Given the description of an element on the screen output the (x, y) to click on. 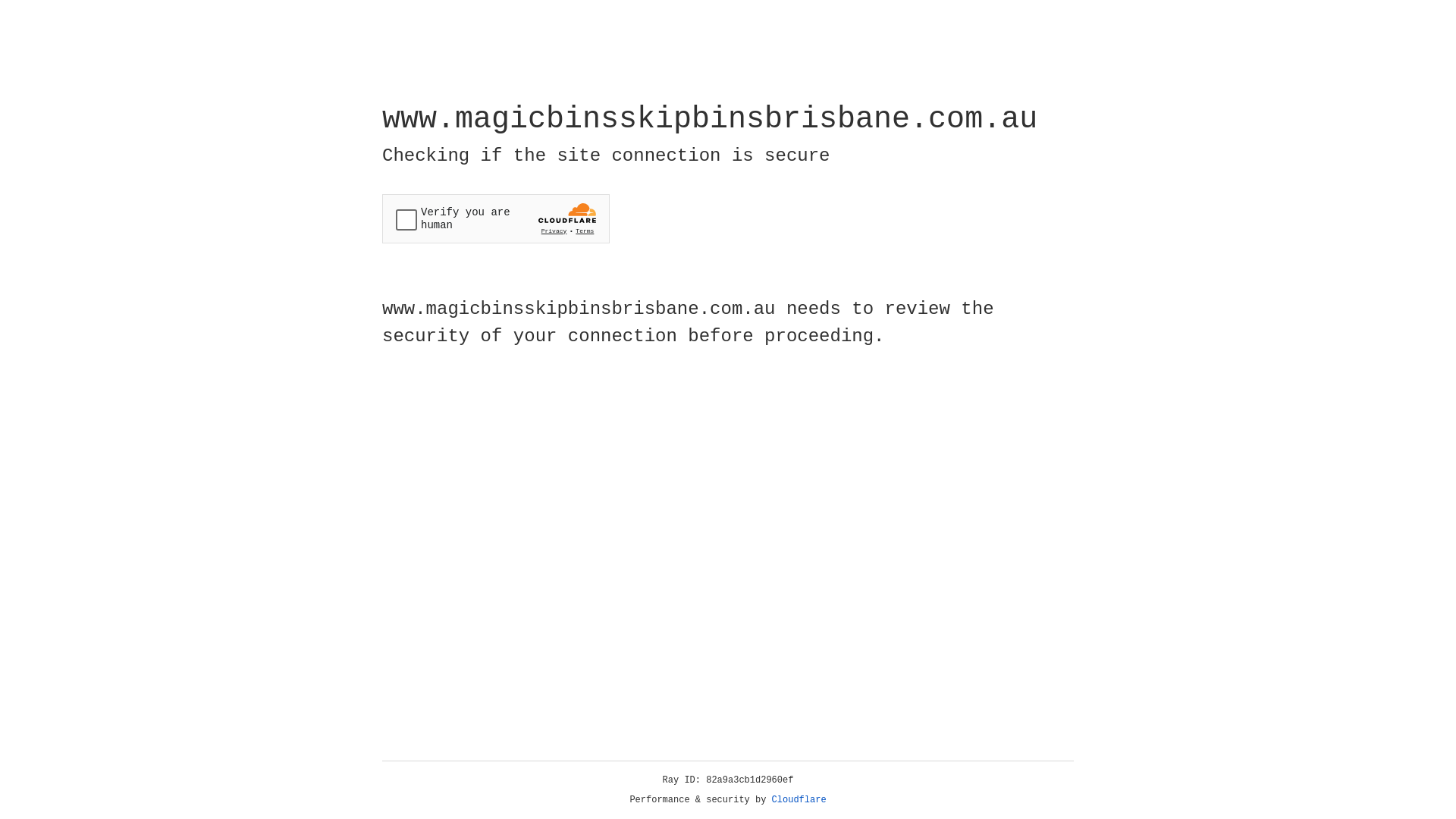
Widget containing a Cloudflare security challenge Element type: hover (495, 218)
Cloudflare Element type: text (798, 799)
